Given the description of an element on the screen output the (x, y) to click on. 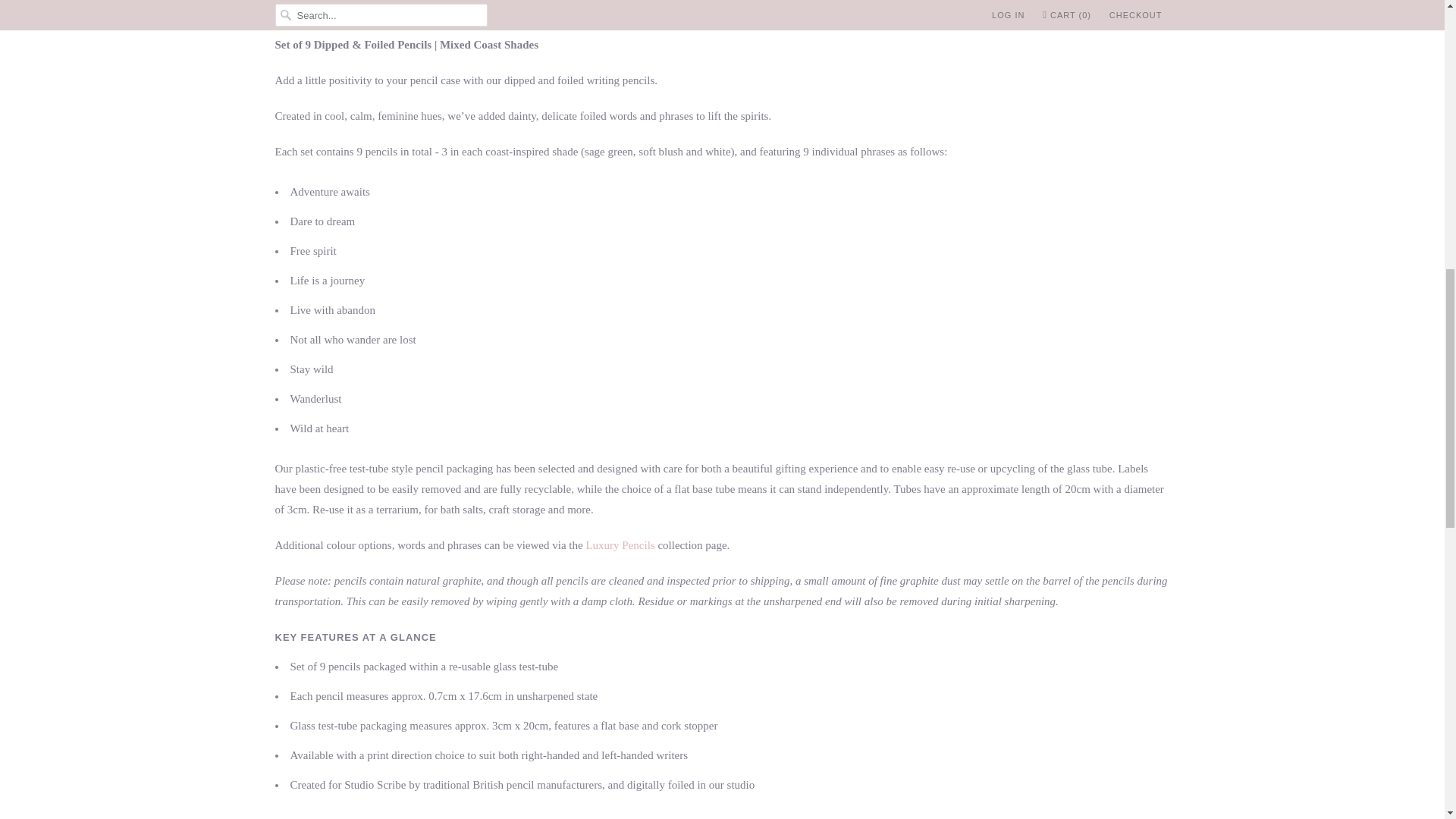
Luxury Pencils (619, 544)
